Given the description of an element on the screen output the (x, y) to click on. 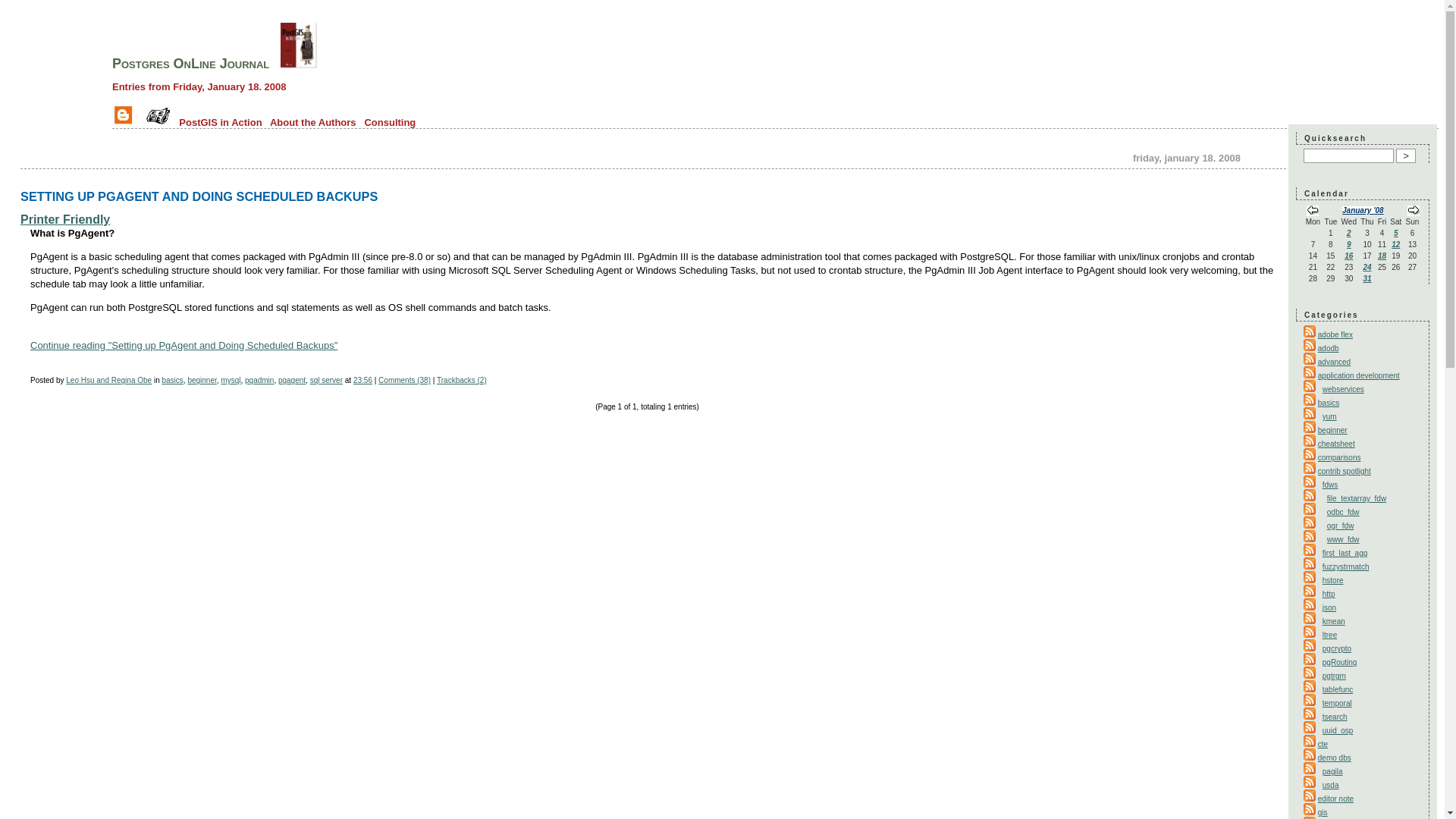
adobe flex (1334, 334)
Saturday (1396, 221)
About the Authors (312, 122)
PostGIS in Action 2nd Edition (299, 63)
yum (1326, 416)
Consulting (389, 122)
Basics (1328, 402)
basics (172, 379)
Go! (1406, 155)
SETTING UP PGAGENT AND DOING SCHEDULED BACKUPS (198, 196)
Printer Friendly (65, 219)
24 (1366, 266)
Monday (1312, 221)
Tuesday (1330, 221)
